Given the description of an element on the screen output the (x, y) to click on. 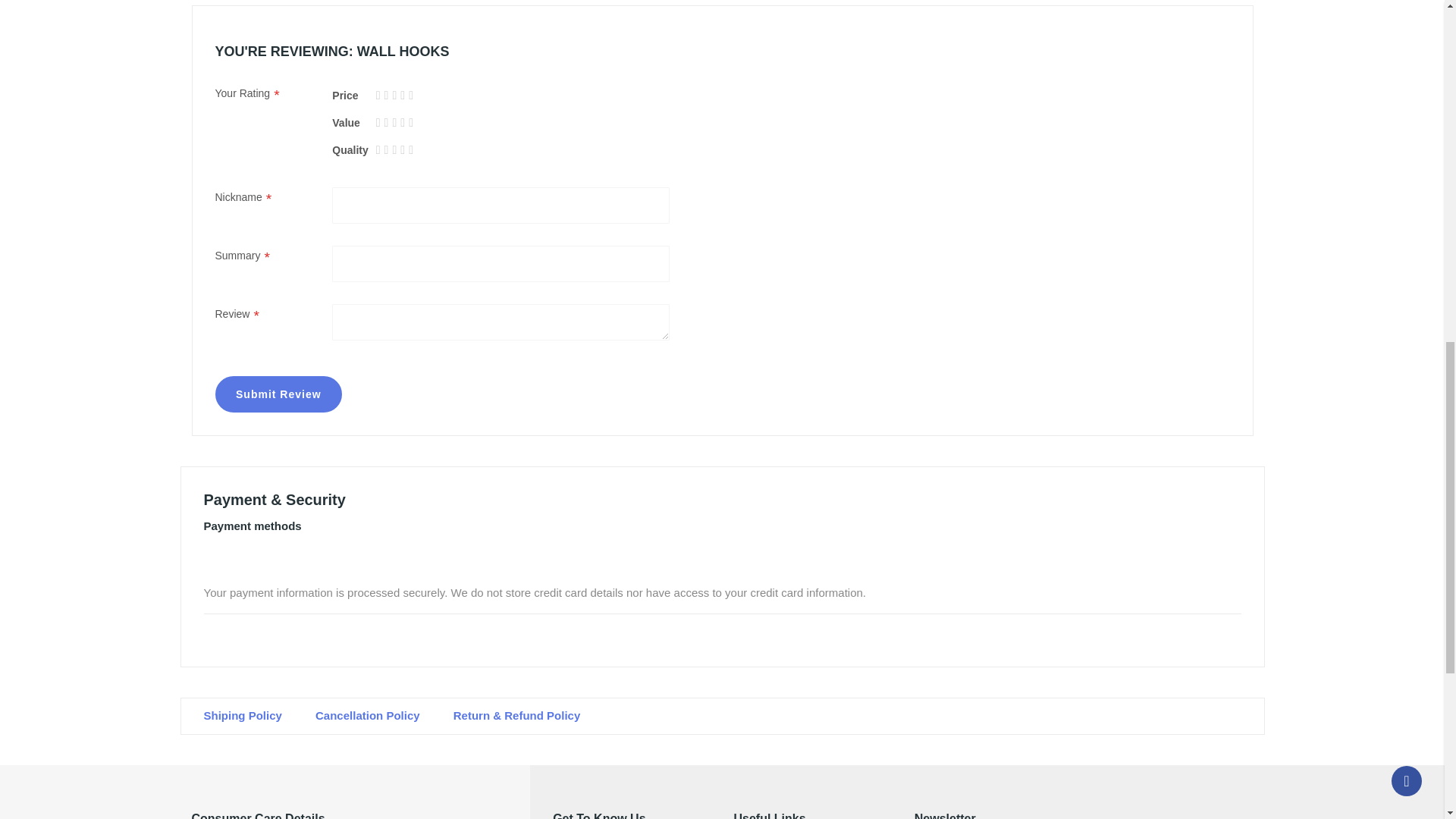
4 stars (392, 98)
2 stars (384, 98)
